Given the description of an element on the screen output the (x, y) to click on. 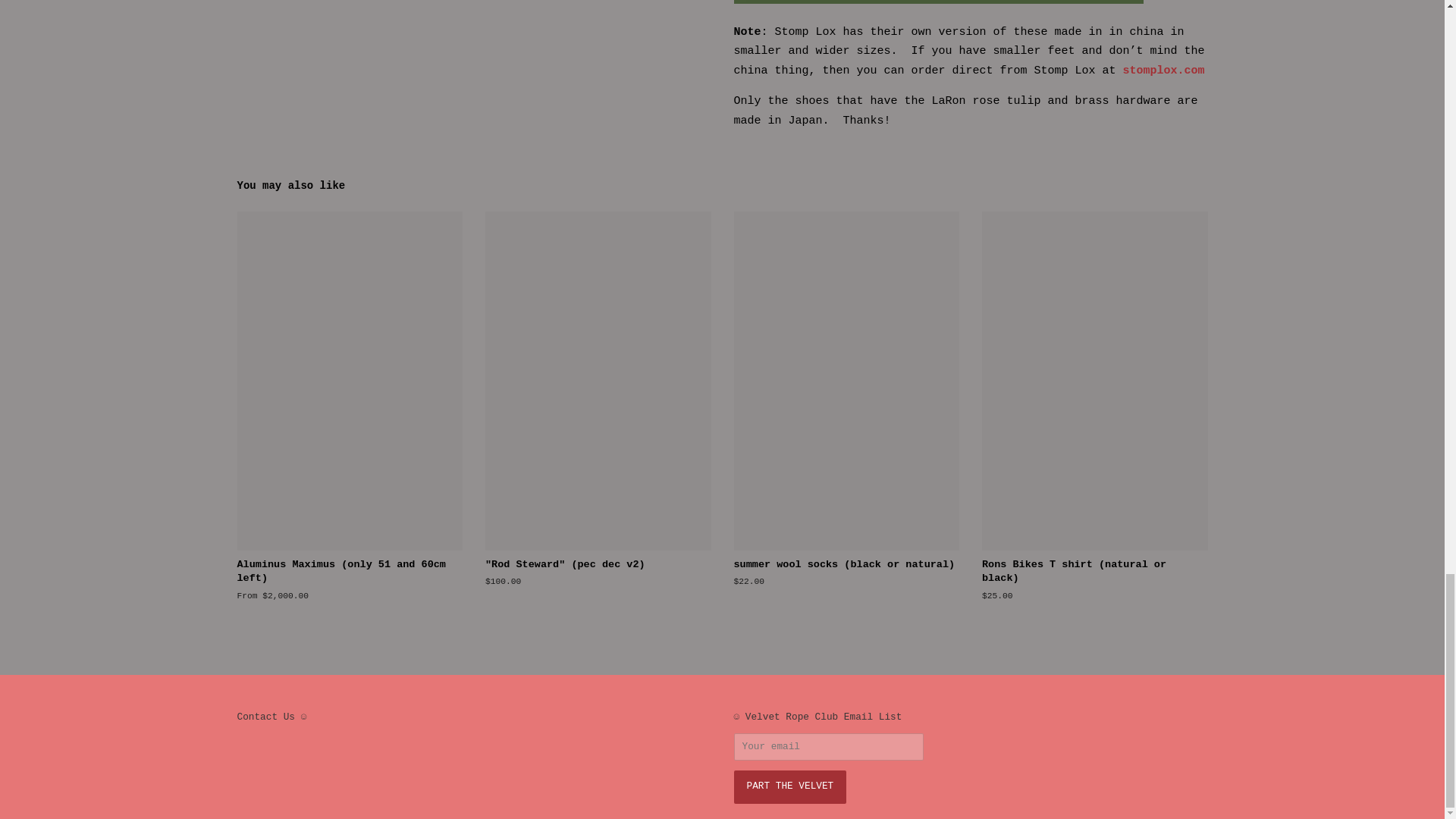
PART THE VELVET (790, 786)
